Given the description of an element on the screen output the (x, y) to click on. 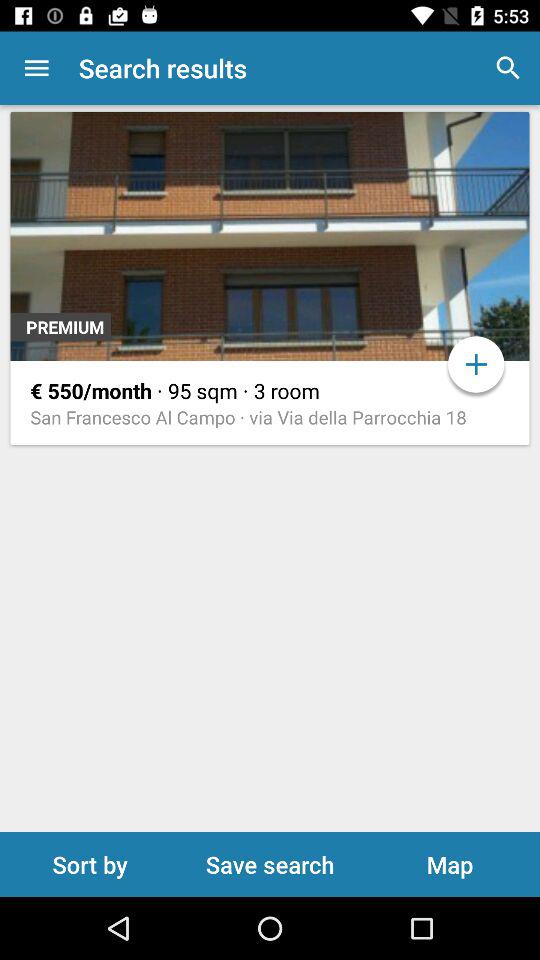
turn off the icon below the san francesco al item (270, 863)
